Given the description of an element on the screen output the (x, y) to click on. 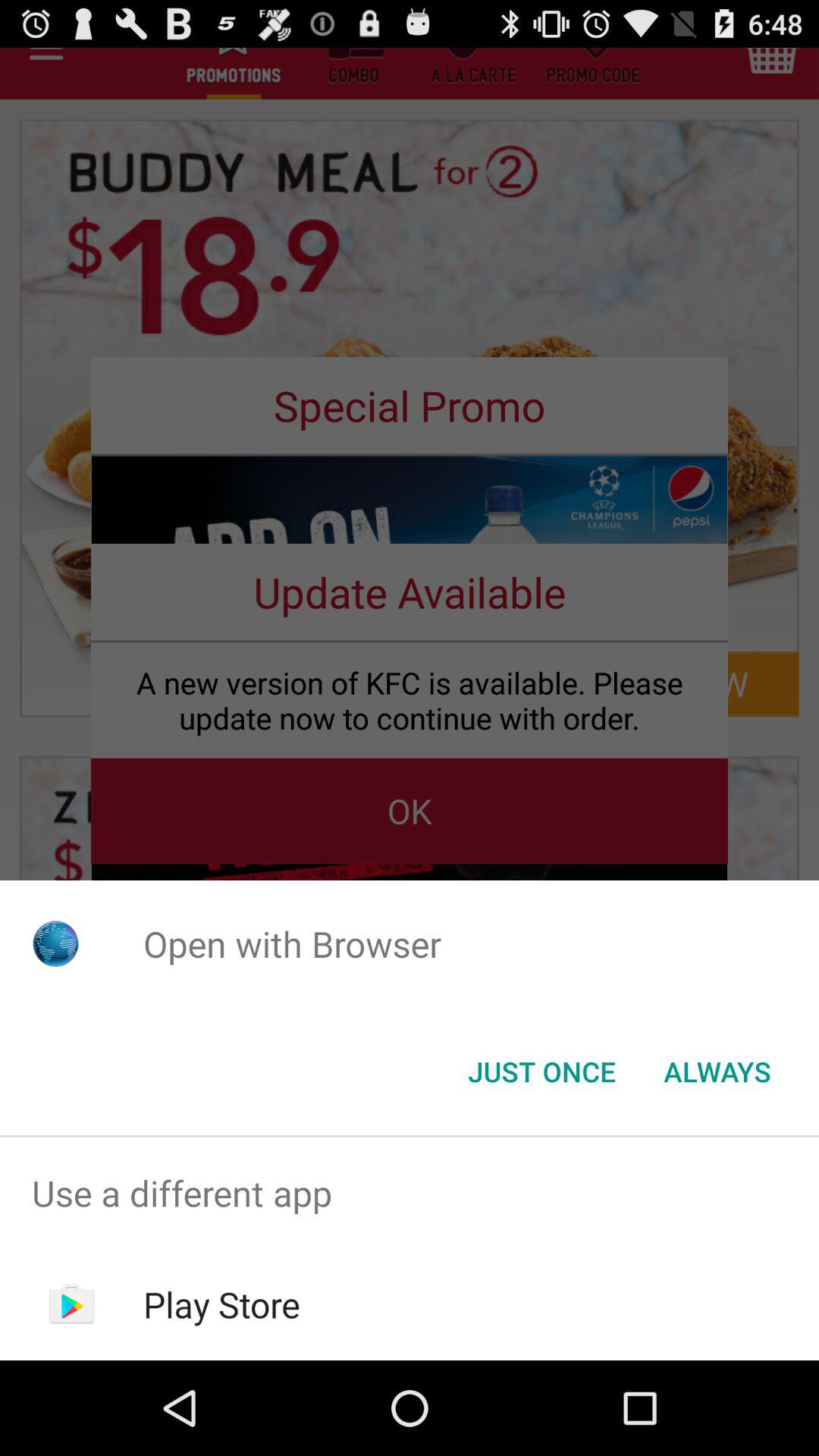
click the icon to the left of always (541, 1071)
